Given the description of an element on the screen output the (x, y) to click on. 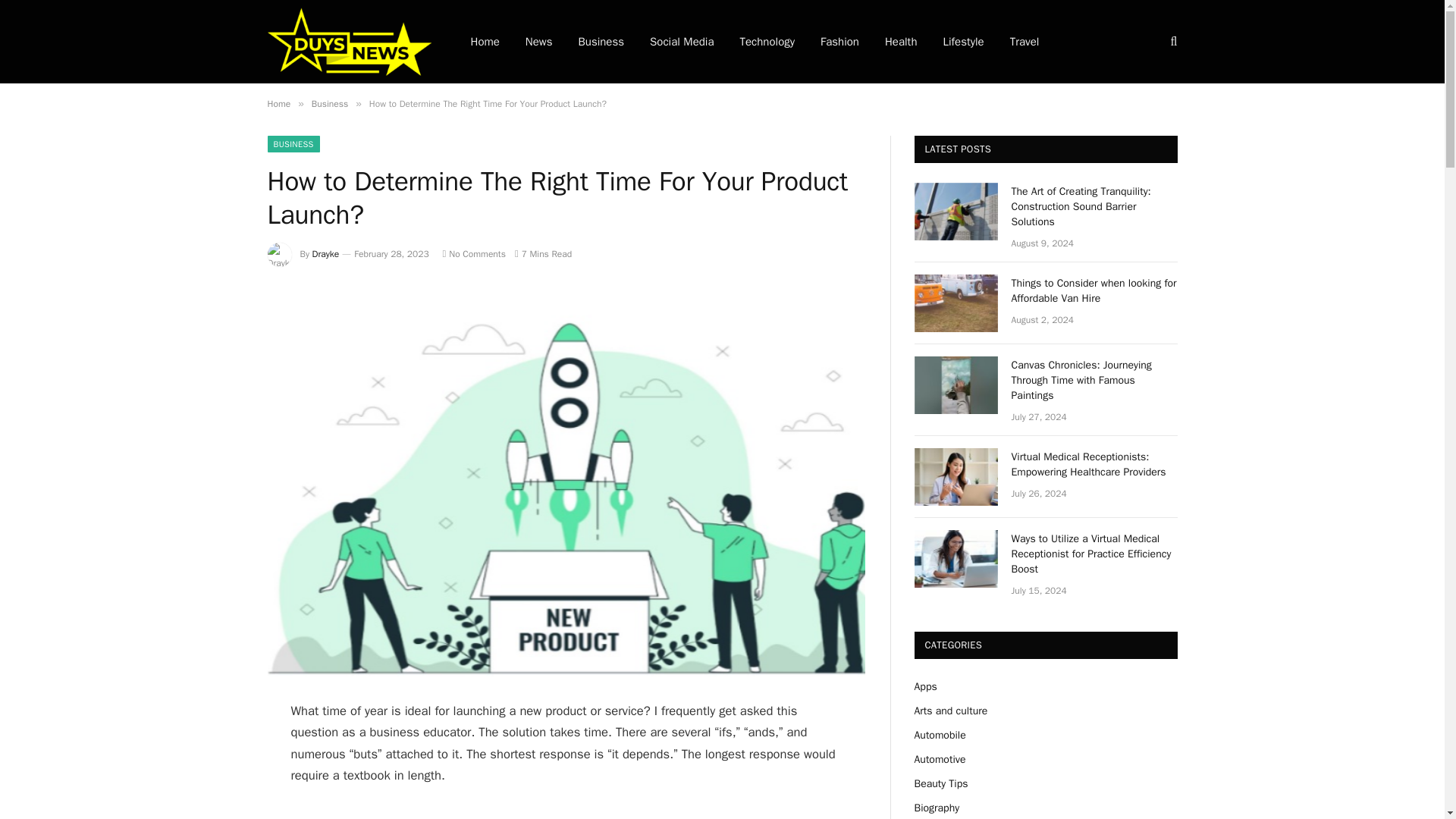
Business (329, 103)
Social Media (681, 41)
Duysnews.com (348, 41)
Home (277, 103)
BUSINESS (292, 143)
Posts by Drayke (326, 254)
Things to Consider when looking for Affordable Van Hire (1094, 291)
No Comments (473, 254)
